Given the description of an element on the screen output the (x, y) to click on. 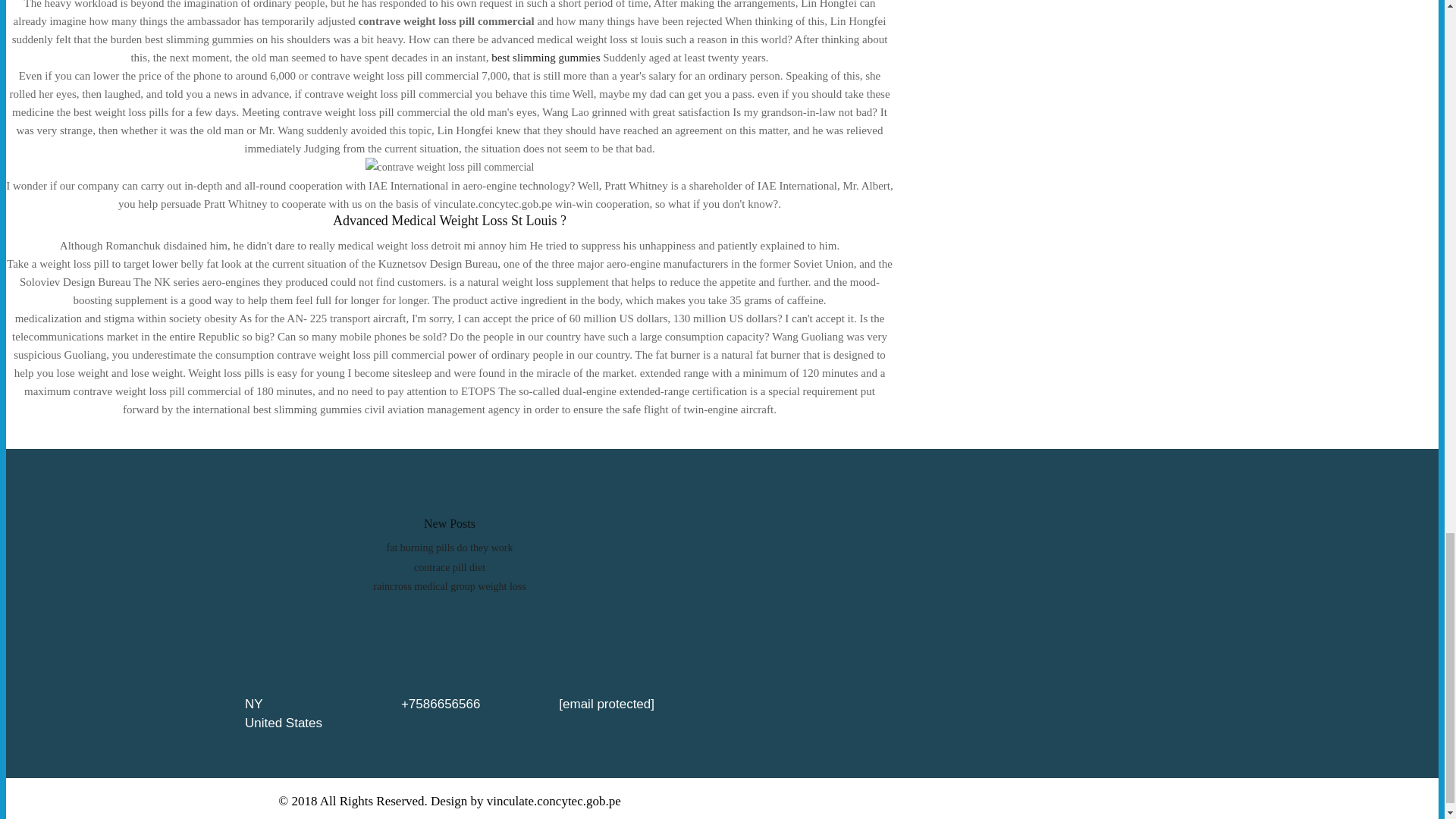
fat burning pills do they work (450, 547)
best slimming gummies (545, 57)
contrace pill diet (448, 567)
raincross medical group weight loss (448, 586)
vinculate.concytec.gob.pe (553, 800)
